Given the description of an element on the screen output the (x, y) to click on. 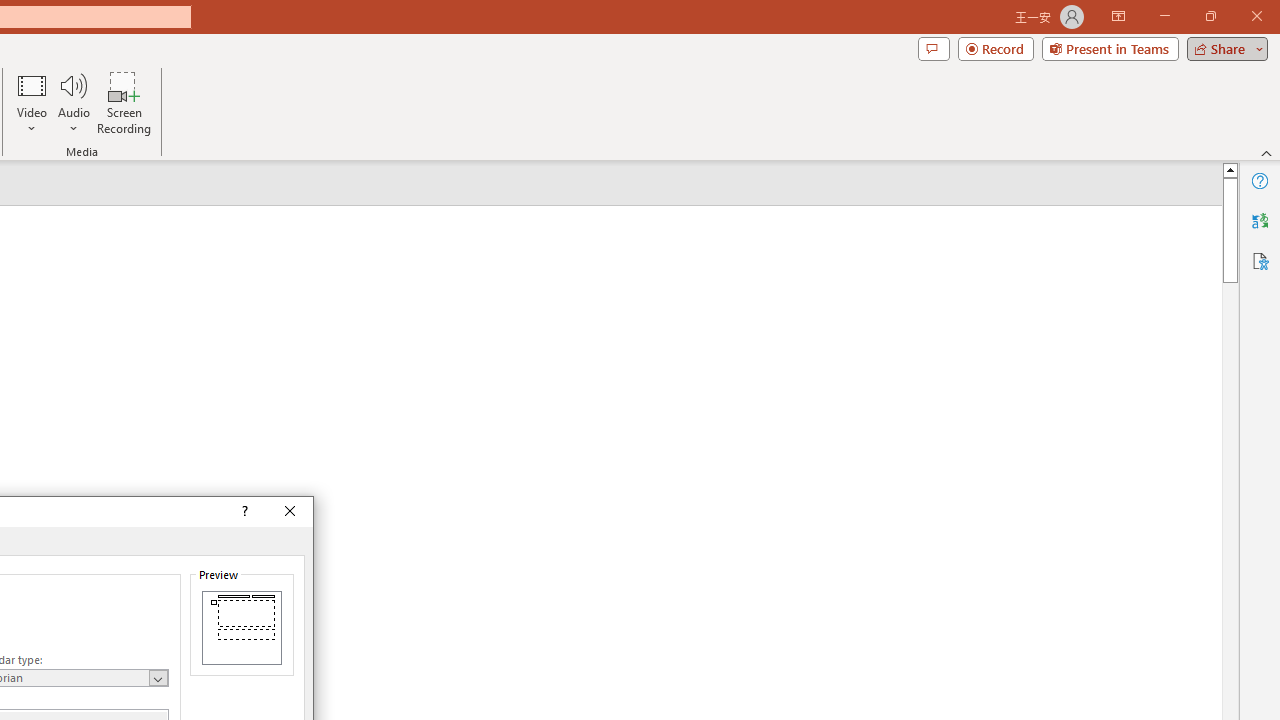
Screen Recording... (123, 102)
